Given the description of an element on the screen output the (x, y) to click on. 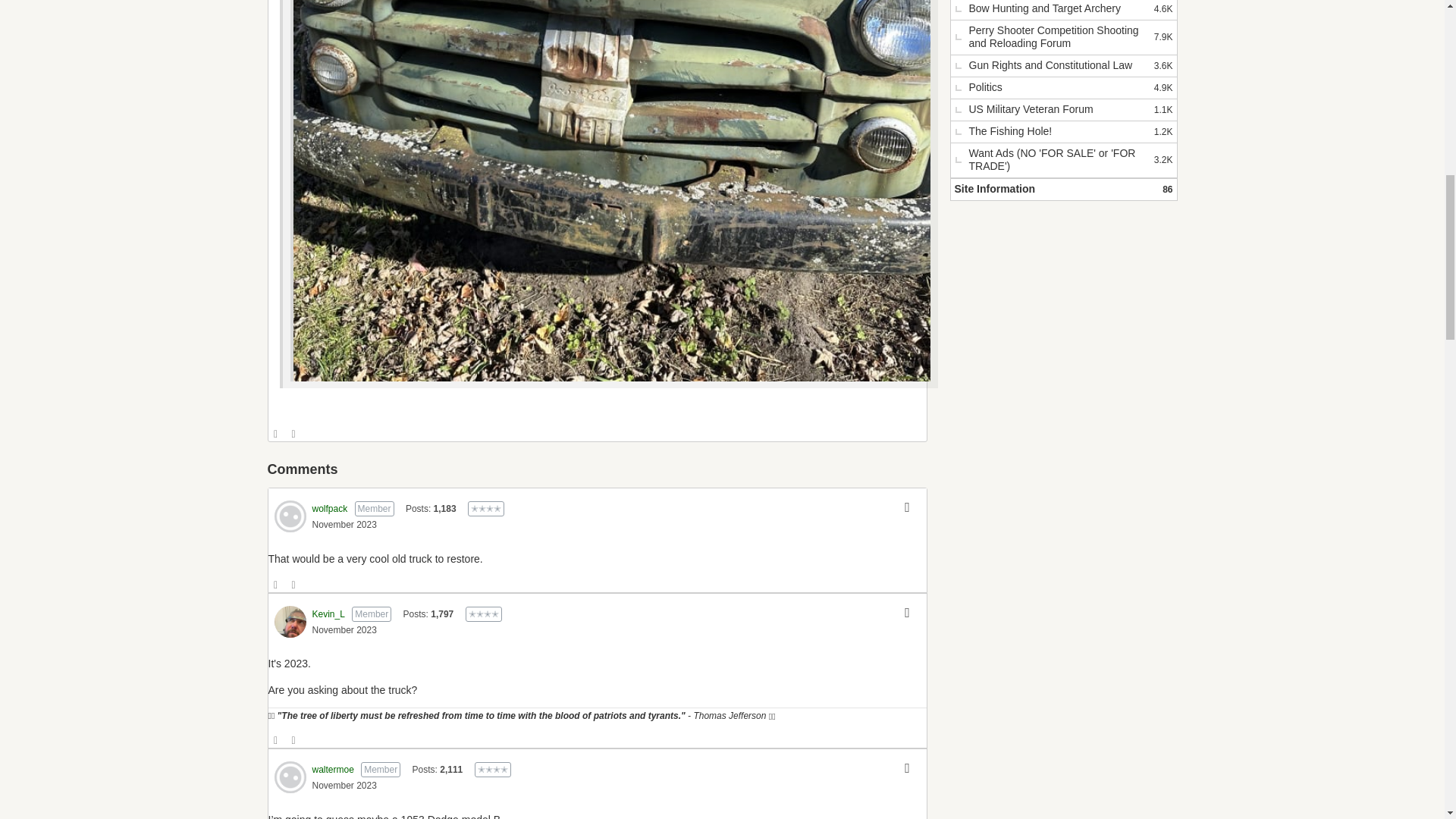
November 30, 2023 8:51PM (345, 629)
November 2023 (345, 524)
Share on Facebook (276, 585)
Level 4 (485, 508)
wolfpack (330, 508)
Share on Twitter (294, 585)
Share on Facebook (276, 434)
waltermoe (290, 777)
November 30, 2023 8:25PM (345, 524)
wolfpack (290, 516)
Level 4 (492, 769)
Share on Twitter (294, 434)
November 30, 2023 8:54PM (345, 785)
Level 4 (483, 613)
